Given the description of an element on the screen output the (x, y) to click on. 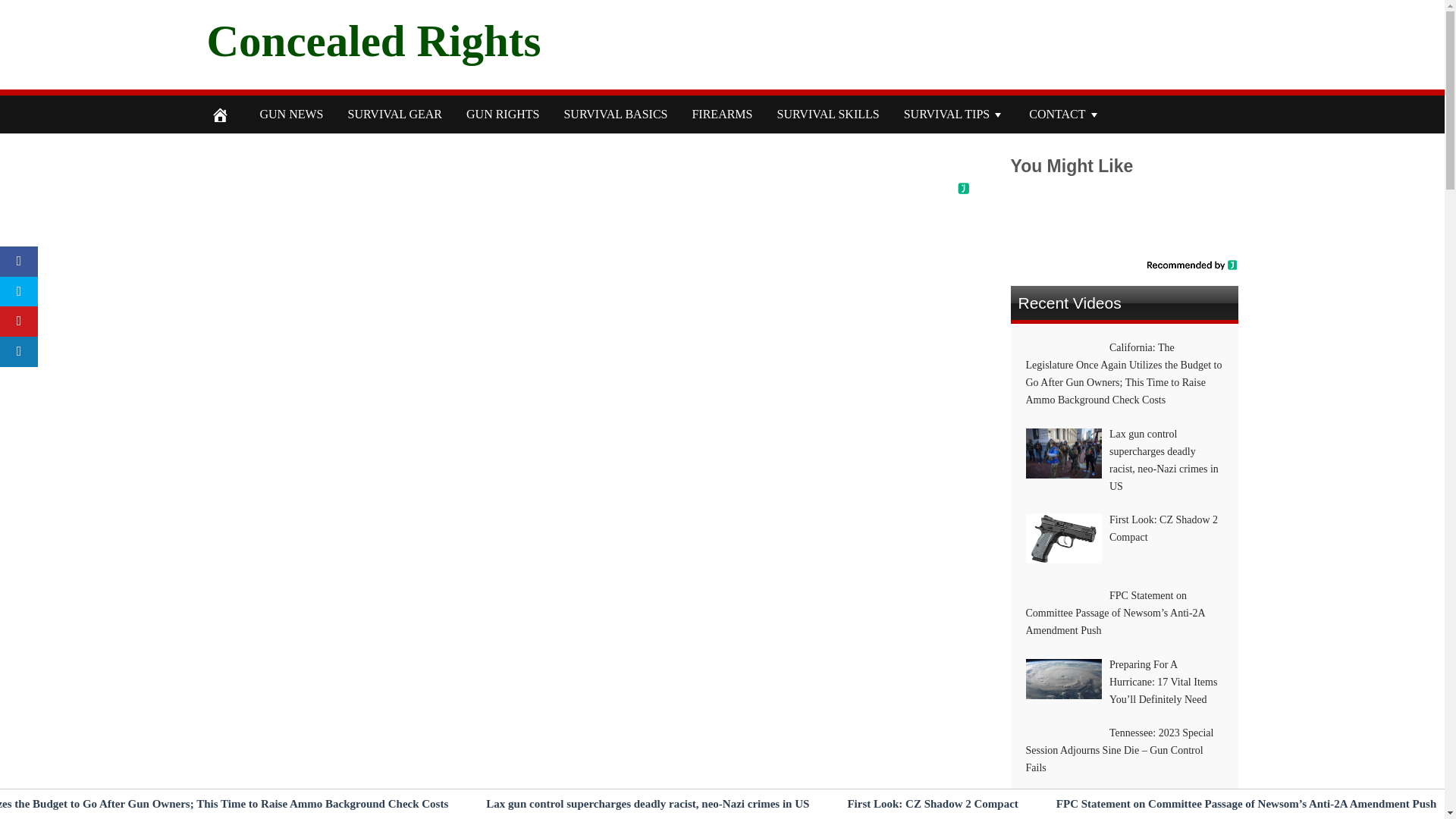
First Look: CZ Shadow 2 Compact (932, 803)
